Given the description of an element on the screen output the (x, y) to click on. 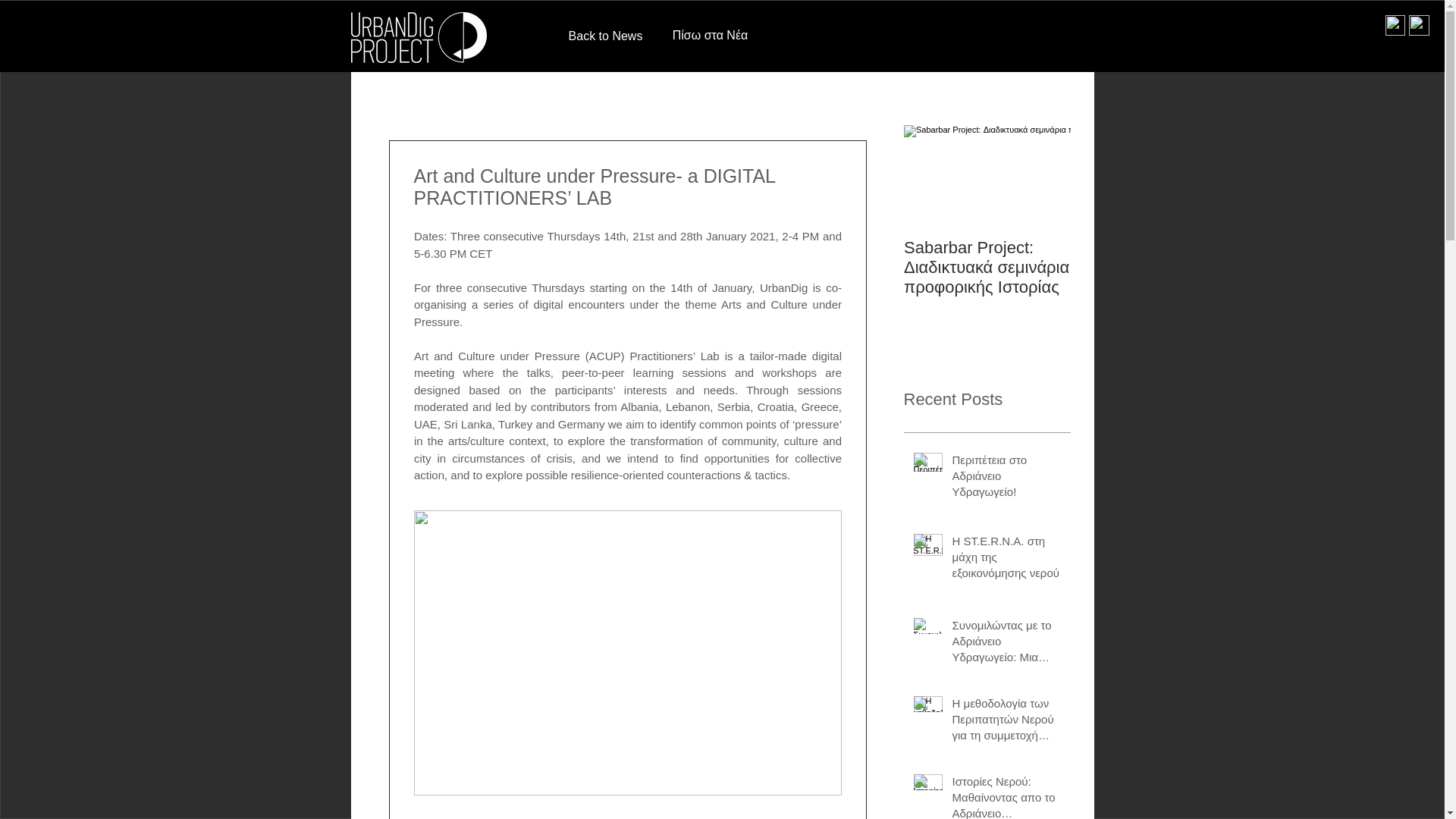
Back to News (604, 36)
